Given the description of an element on the screen output the (x, y) to click on. 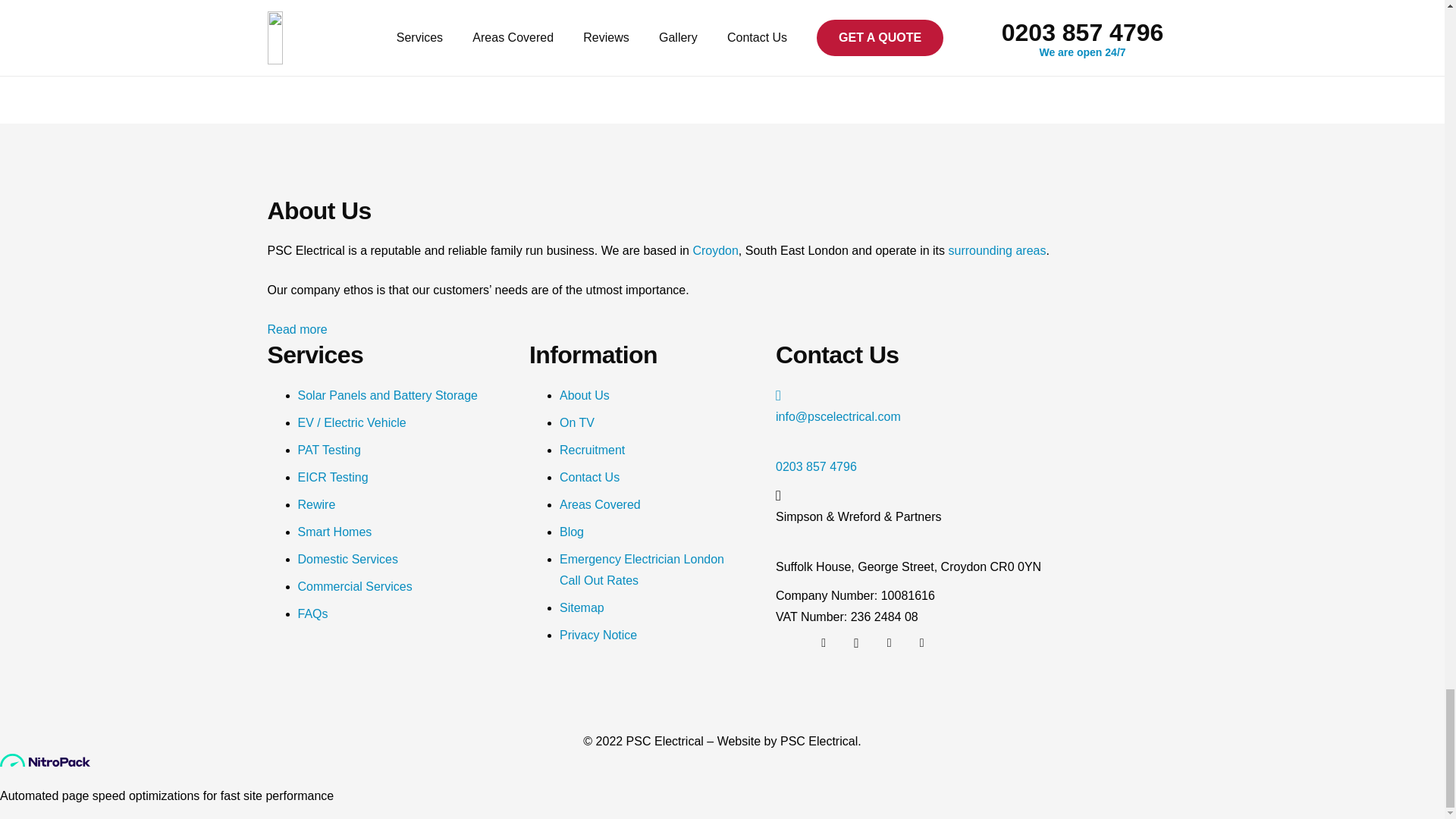
Facebook (889, 643)
Instagram (855, 643)
Twitter (823, 643)
Get A Free Quote (722, 32)
YouTube (922, 643)
